Given the description of an element on the screen output the (x, y) to click on. 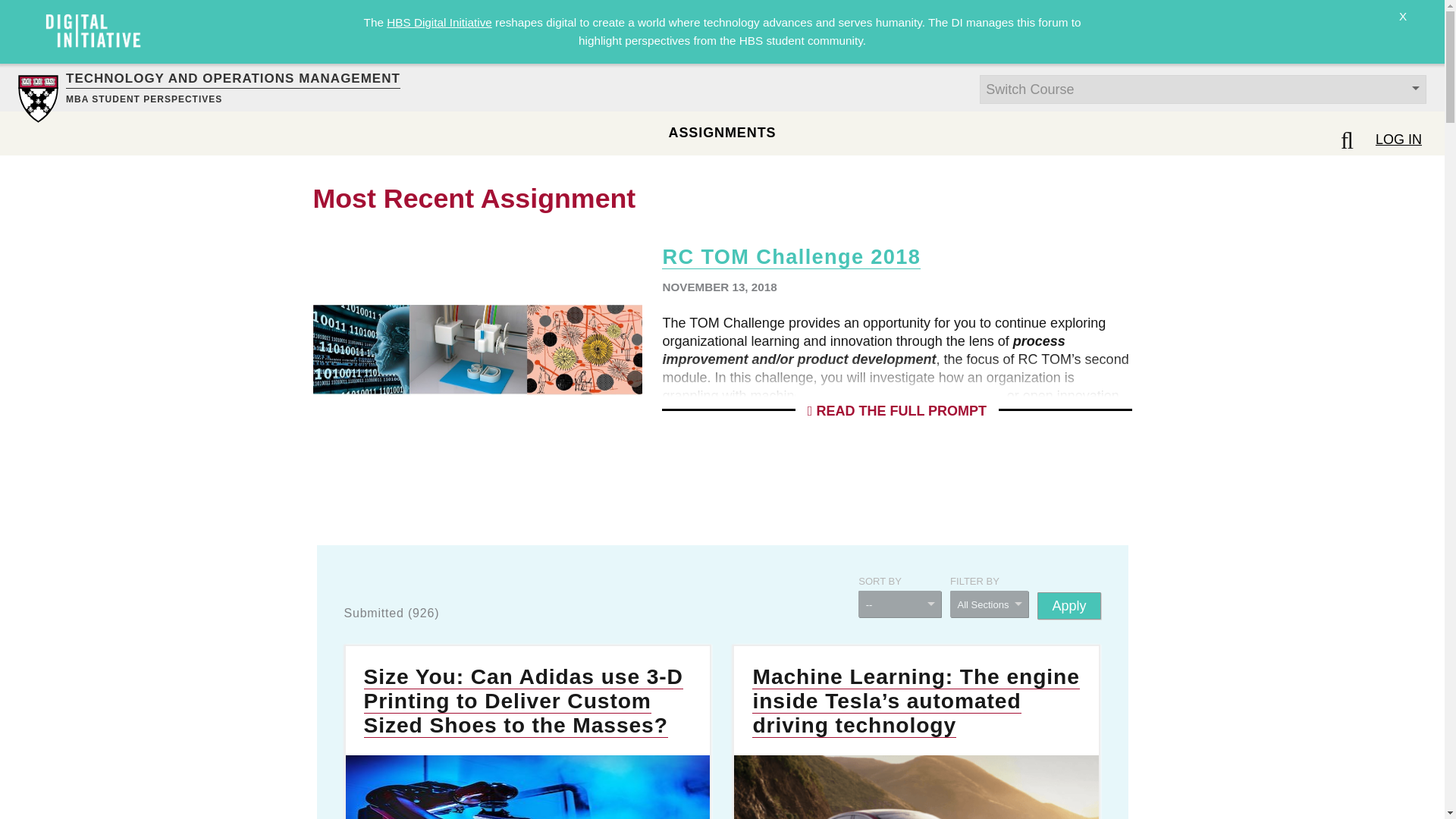
Apply (1068, 605)
RC TOM Challenge 2018 (790, 256)
LOG IN (1398, 139)
Go (18, 9)
HBS Digital Initiative (439, 21)
Apply (1068, 605)
Close and dismiss. (1403, 26)
ASSIGNMENTS (722, 132)
